Given the description of an element on the screen output the (x, y) to click on. 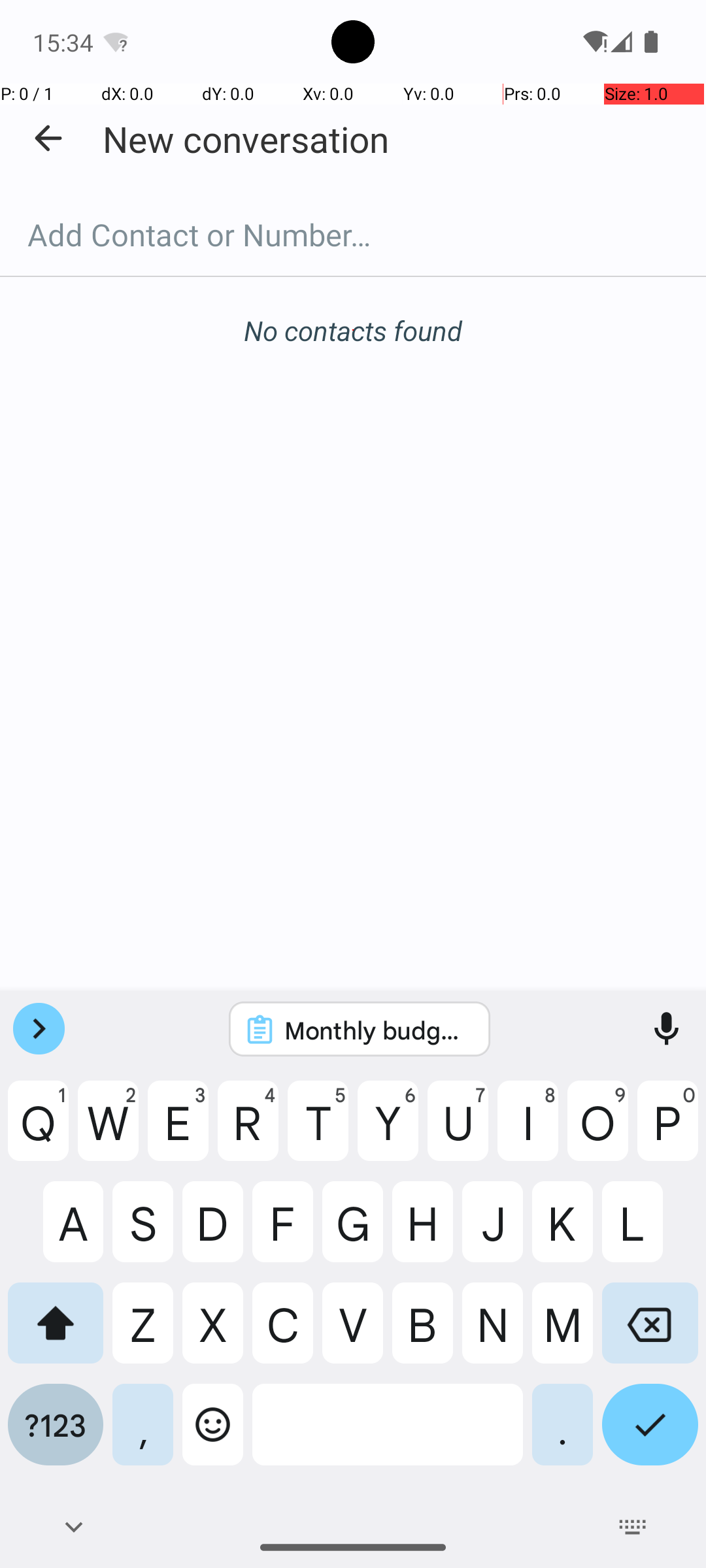
Monthly budget meeting pushed to Friday. Element type: android.widget.TextView (376, 1029)
